Given the description of an element on the screen output the (x, y) to click on. 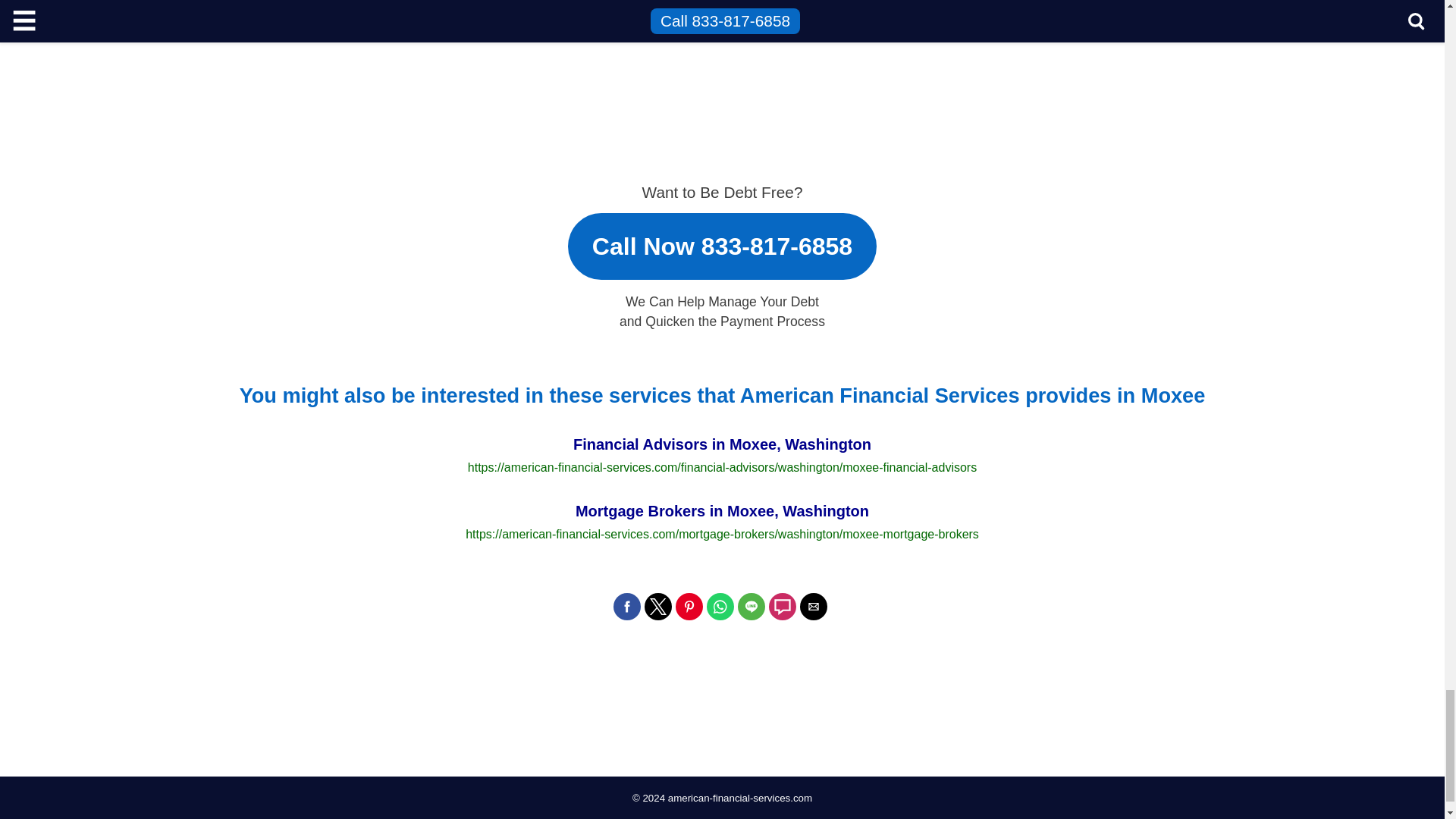
Call Now 833-817-6858 (722, 238)
Financial Advisors in Moxee, Washington (721, 454)
Gain Financial Independence from Creditors Today (1040, 54)
Mortgage Brokers in Moxee, Washington (721, 521)
